Given the description of an element on the screen output the (x, y) to click on. 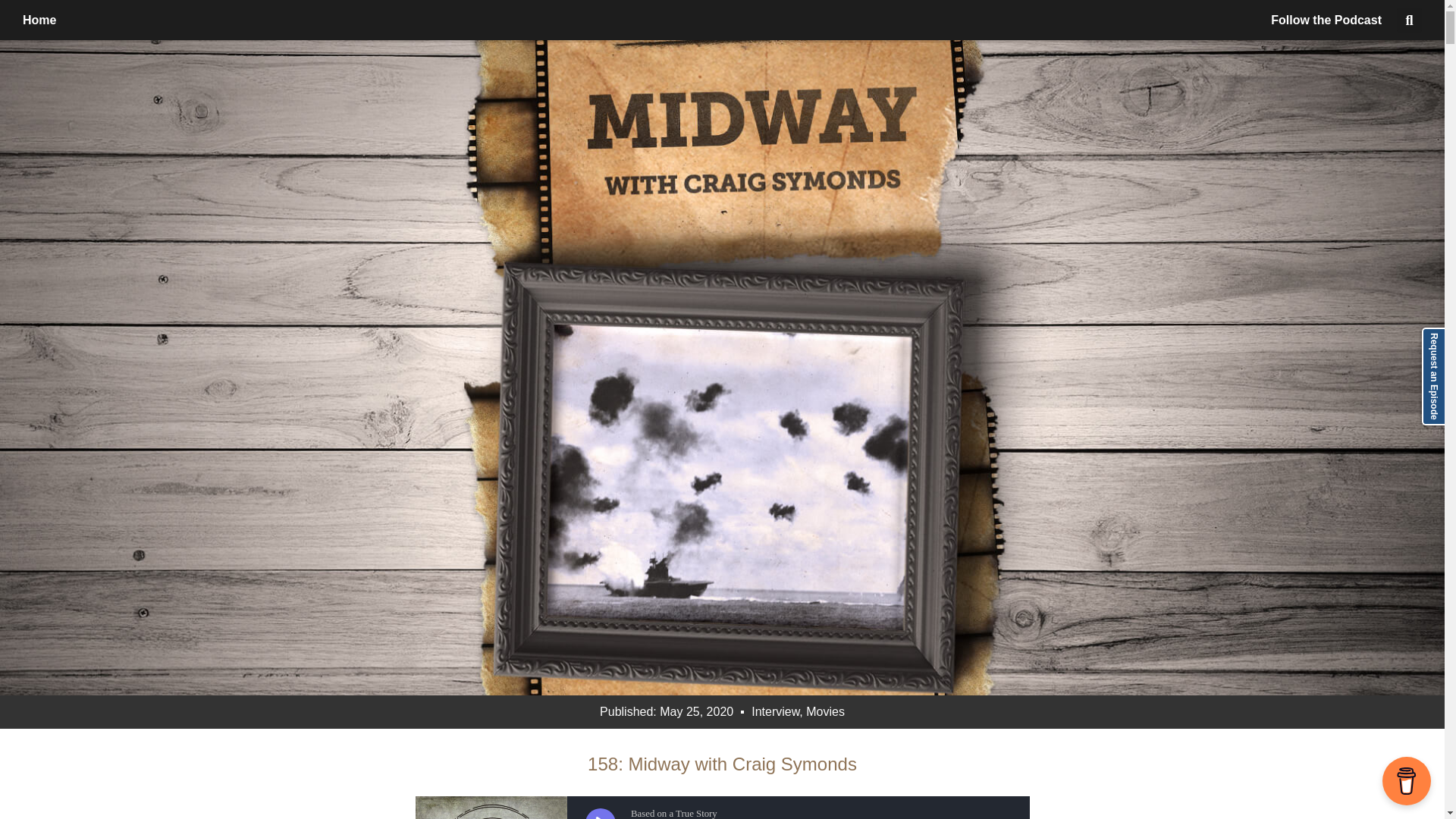
Follow the Podcast (1326, 19)
Interview (775, 711)
Home (39, 19)
Movies (825, 711)
Published: May 25, 2020 (666, 711)
